Given the description of an element on the screen output the (x, y) to click on. 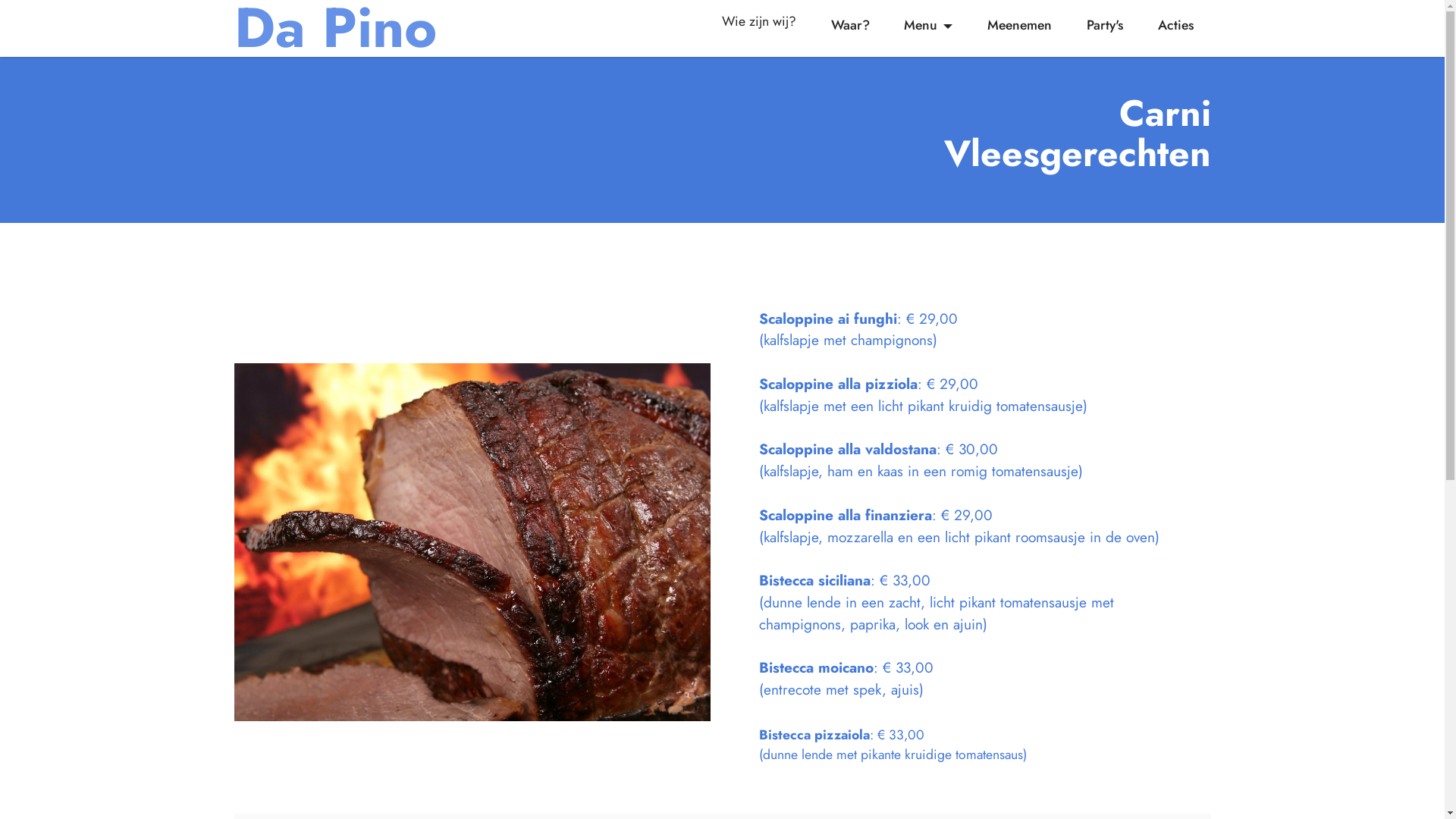
Wie zijn wij? Element type: text (759, 27)
Meenemen Element type: text (1019, 24)
Da Pino Element type: text (334, 28)
Acties Element type: text (1175, 24)
Party's Element type: text (1104, 24)
Waar? Element type: text (849, 24)
Menu Element type: text (928, 24)
